Given the description of an element on the screen output the (x, y) to click on. 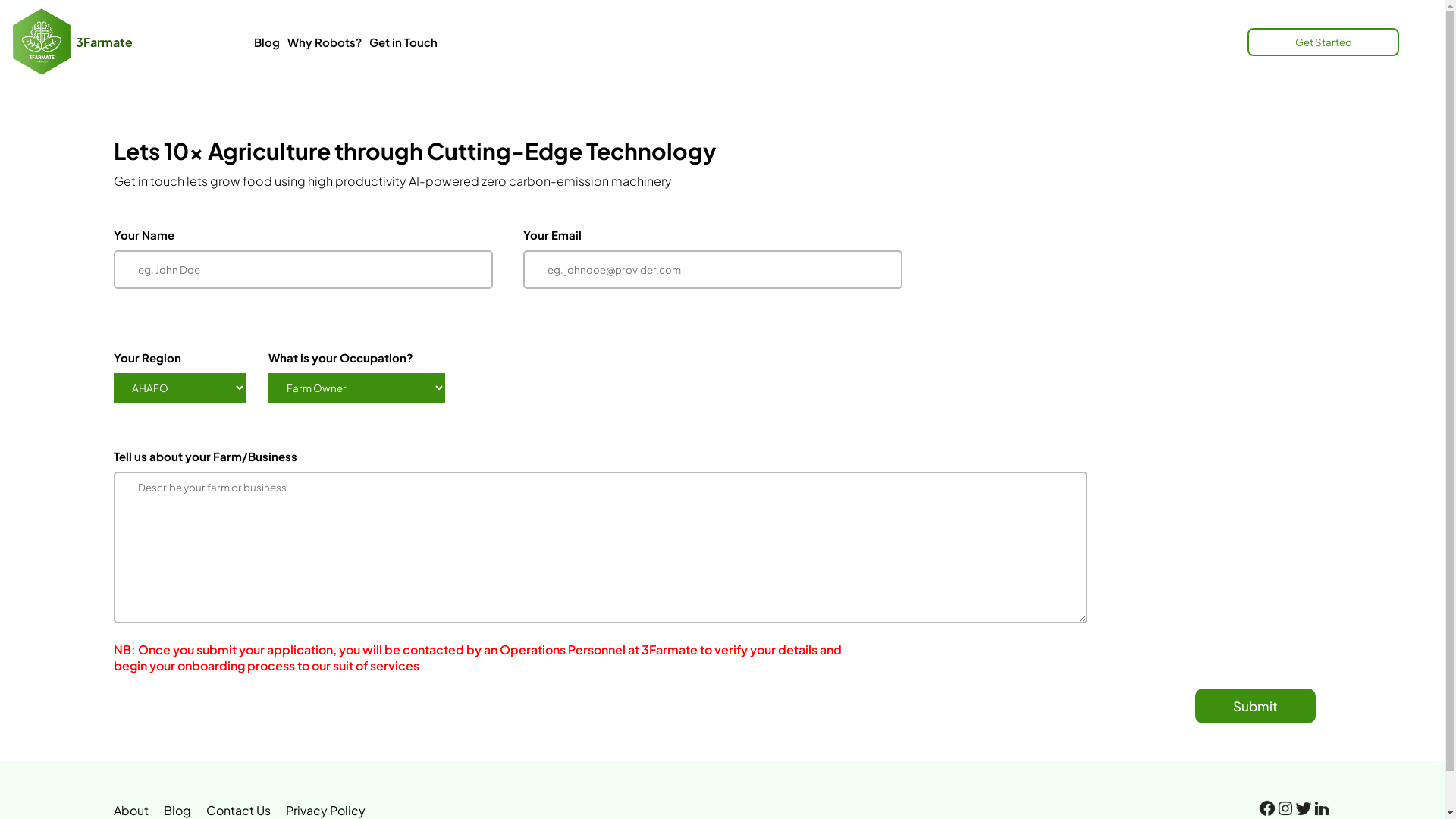
About Element type: text (138, 810)
Why Robots? Element type: text (324, 41)
Get Started Element type: text (1330, 41)
Privacy Policy Element type: text (332, 810)
Blog Element type: text (184, 810)
Get Started Element type: text (1323, 41)
Contact Us Element type: text (245, 810)
Submit Element type: text (1255, 705)
Get in Touch Element type: text (403, 41)
Blog Element type: text (266, 41)
